Given the description of an element on the screen output the (x, y) to click on. 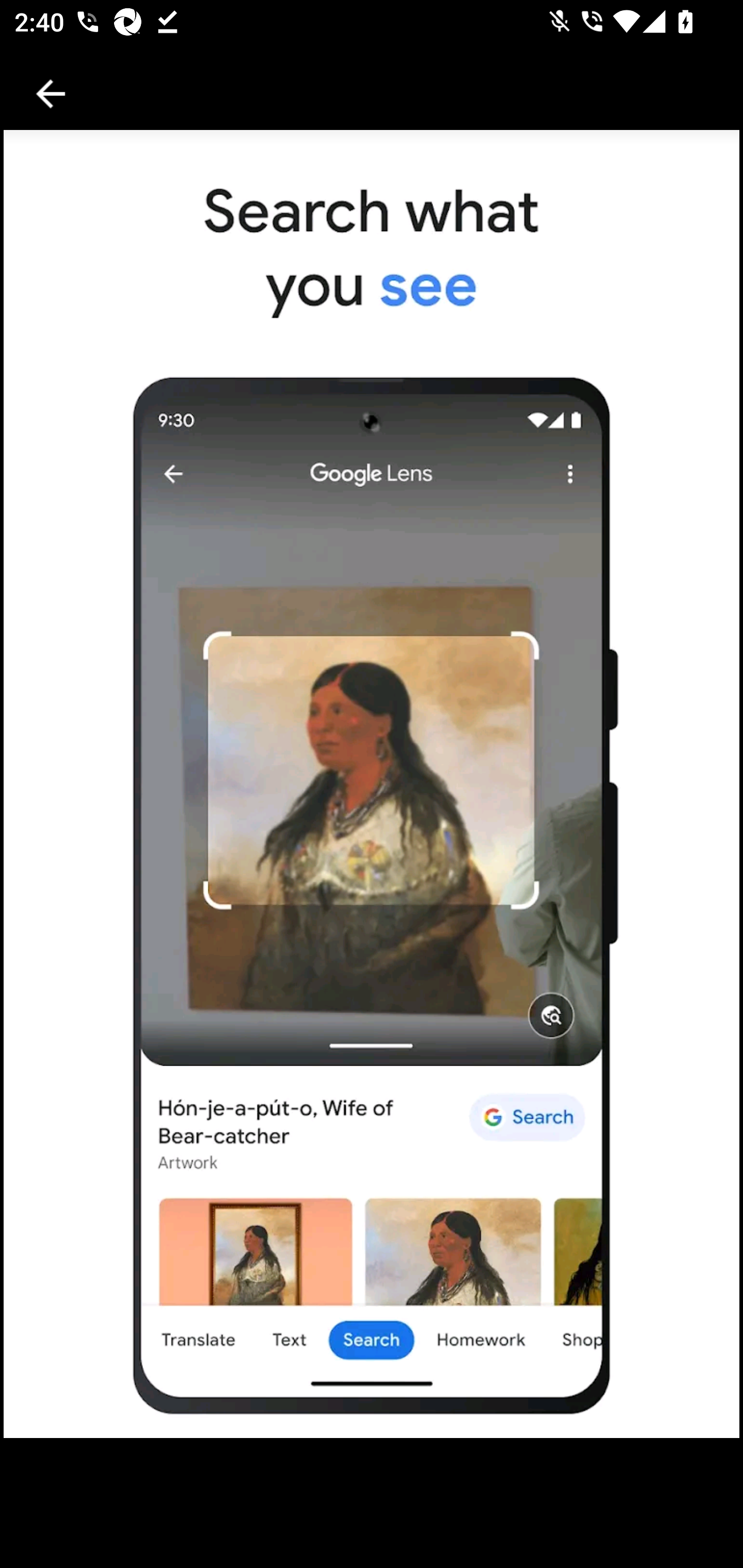
Back (50, 93)
